Given the description of an element on the screen output the (x, y) to click on. 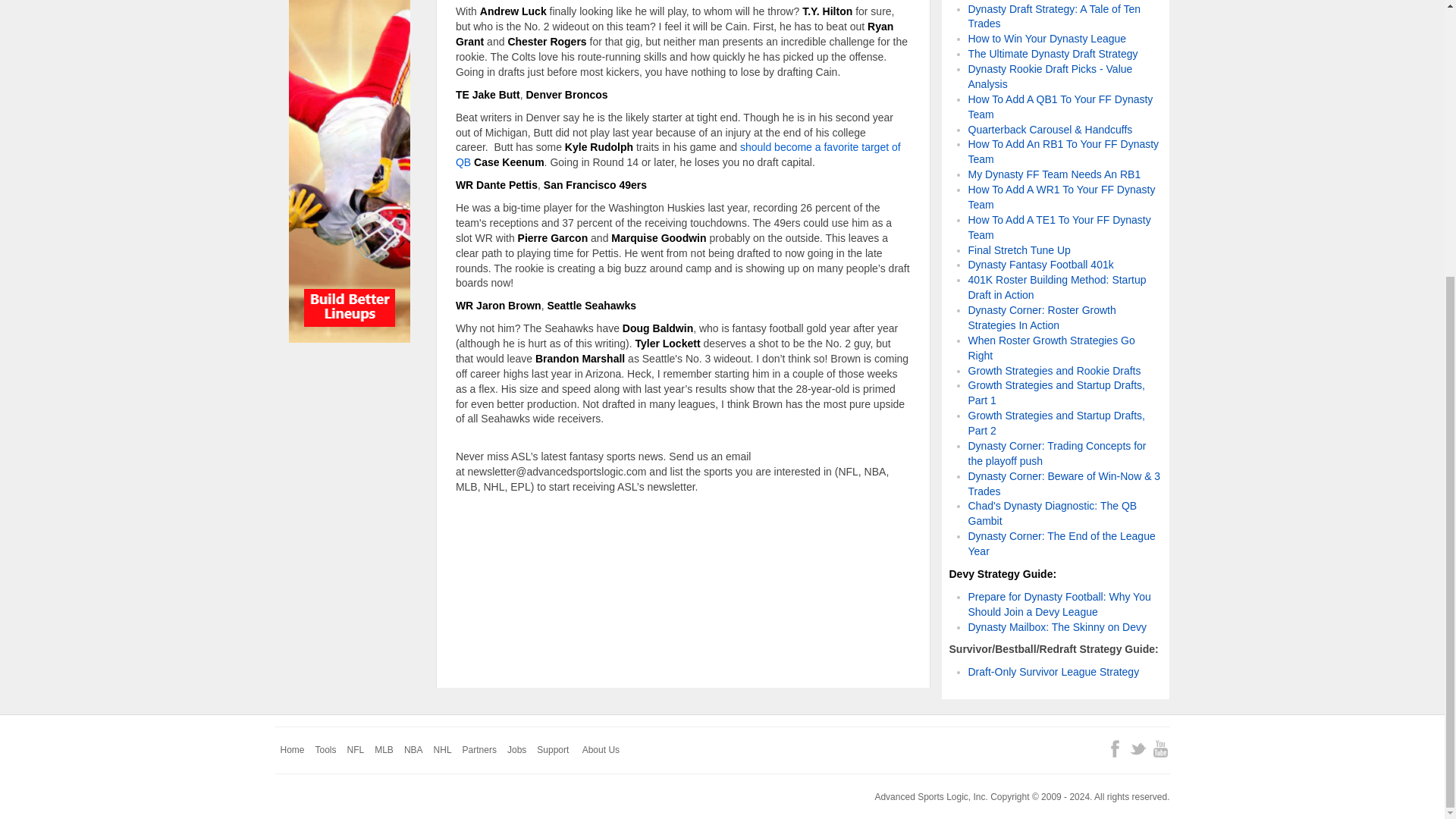
The Ultimate Dynasty Draft Strategy (1052, 53)
How to Win Your Dynasty League (1046, 38)
How To Add A QB1 To Your FF Dynasty Team (1060, 106)
ASL on YouTube (1160, 748)
Dynasty Rookie Draft Picks - Value Analysis (1050, 76)
Dynasty Draft Strategy: A Tale of Ten Trades (1054, 15)
ASL on Facebook (1114, 748)
How To Add An RB1 To Your FF Dynasty Team (1063, 151)
My Dynasty FF Team Needs An RB1 (1054, 174)
ASL on Twitter (1137, 748)
